Given the description of an element on the screen output the (x, y) to click on. 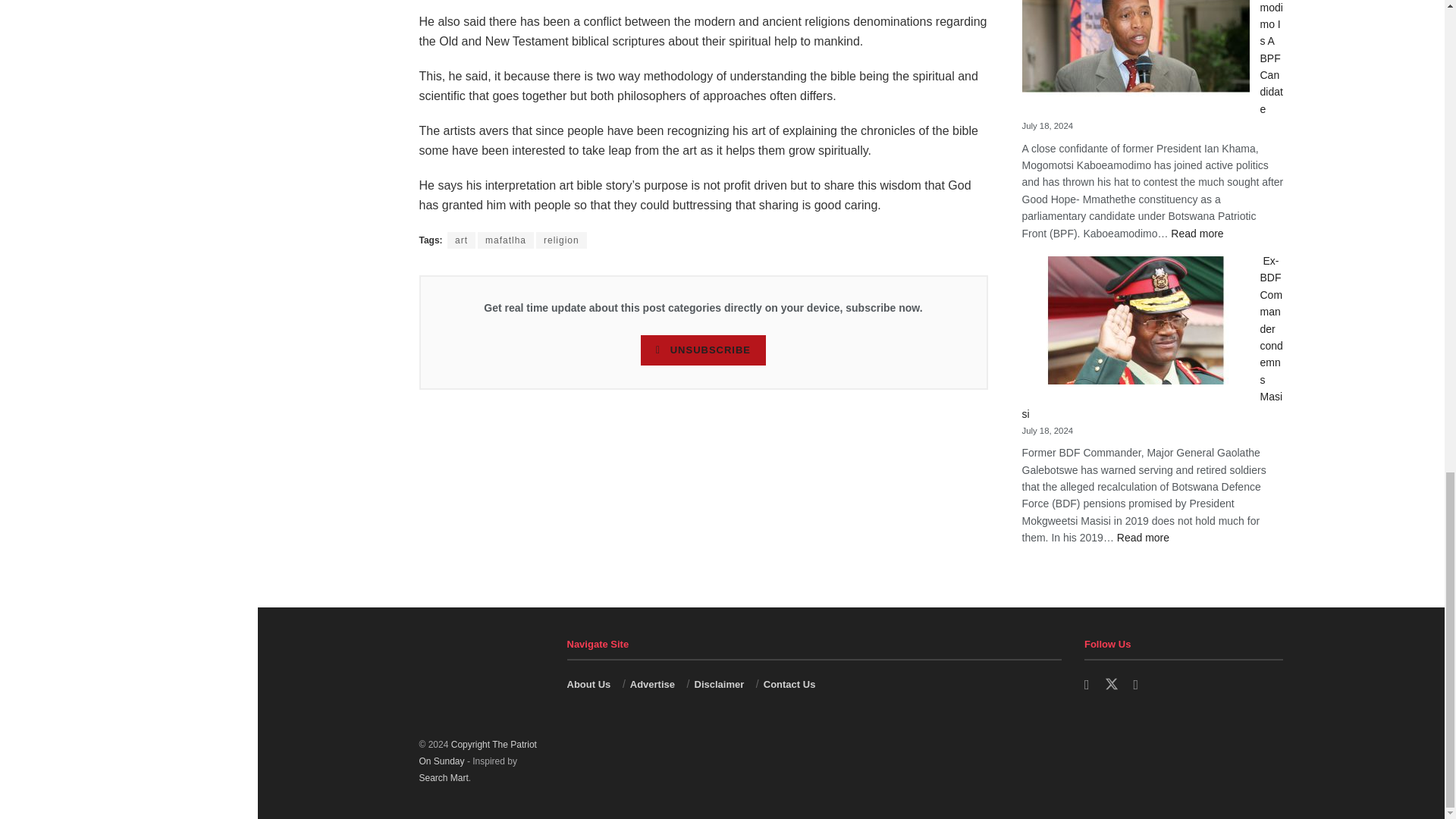
The Patriot Sunday News (477, 752)
Search Mart (443, 777)
